Given the description of an element on the screen output the (x, y) to click on. 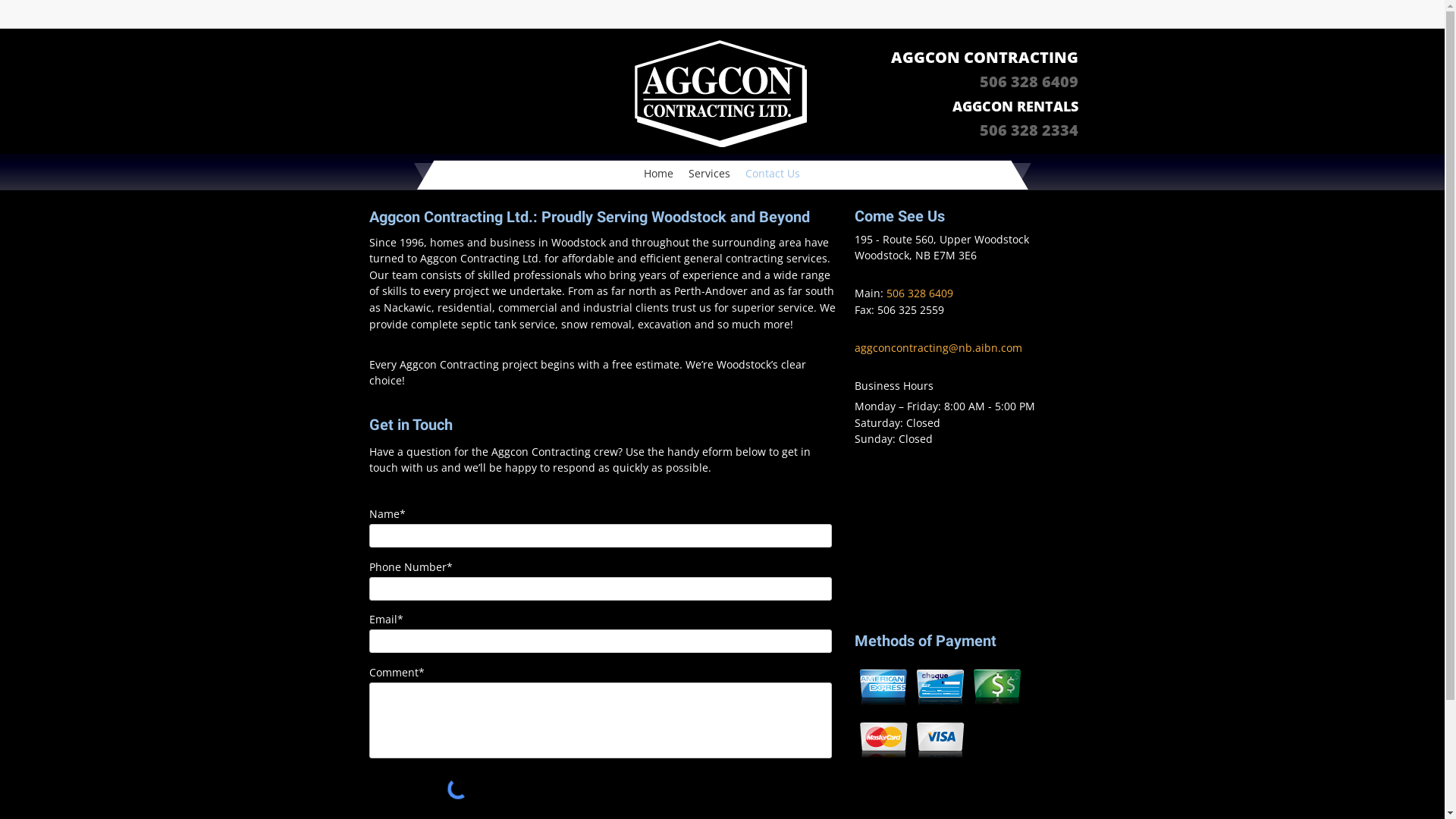
Embedded Content Element type: hover (985, 17)
506 328 6409 Element type: text (918, 292)
Home Element type: text (658, 173)
Services Element type: text (708, 173)
506 328 6409 Element type: text (1028, 81)
aggconcontracting@nb.aibn.com Element type: text (937, 347)
Contact Us Element type: text (772, 173)
Embedded Content Element type: hover (1069, 19)
Google Maps Element type: hover (963, 539)
506 328 2334 Element type: text (1028, 132)
